Given the description of an element on the screen output the (x, y) to click on. 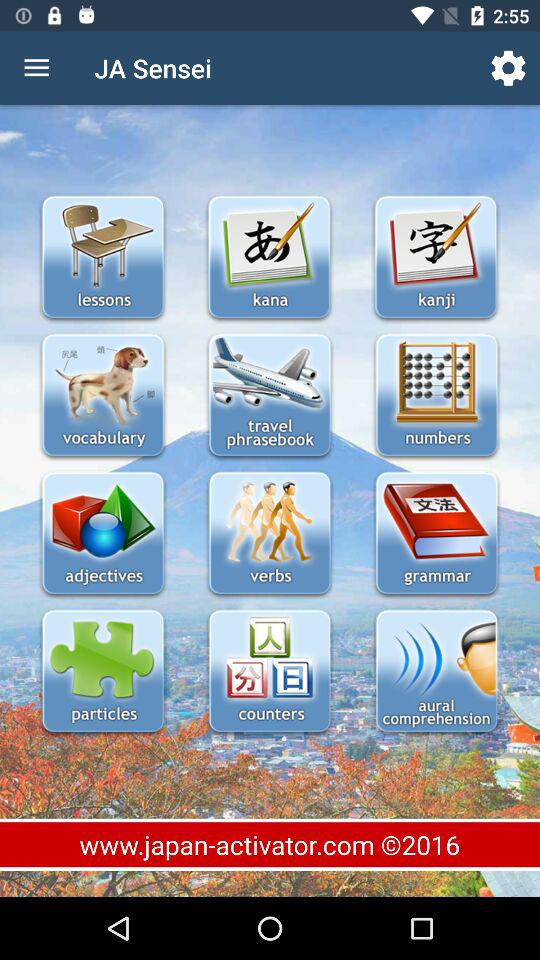
vocabulary lessons (102, 396)
